Given the description of an element on the screen output the (x, y) to click on. 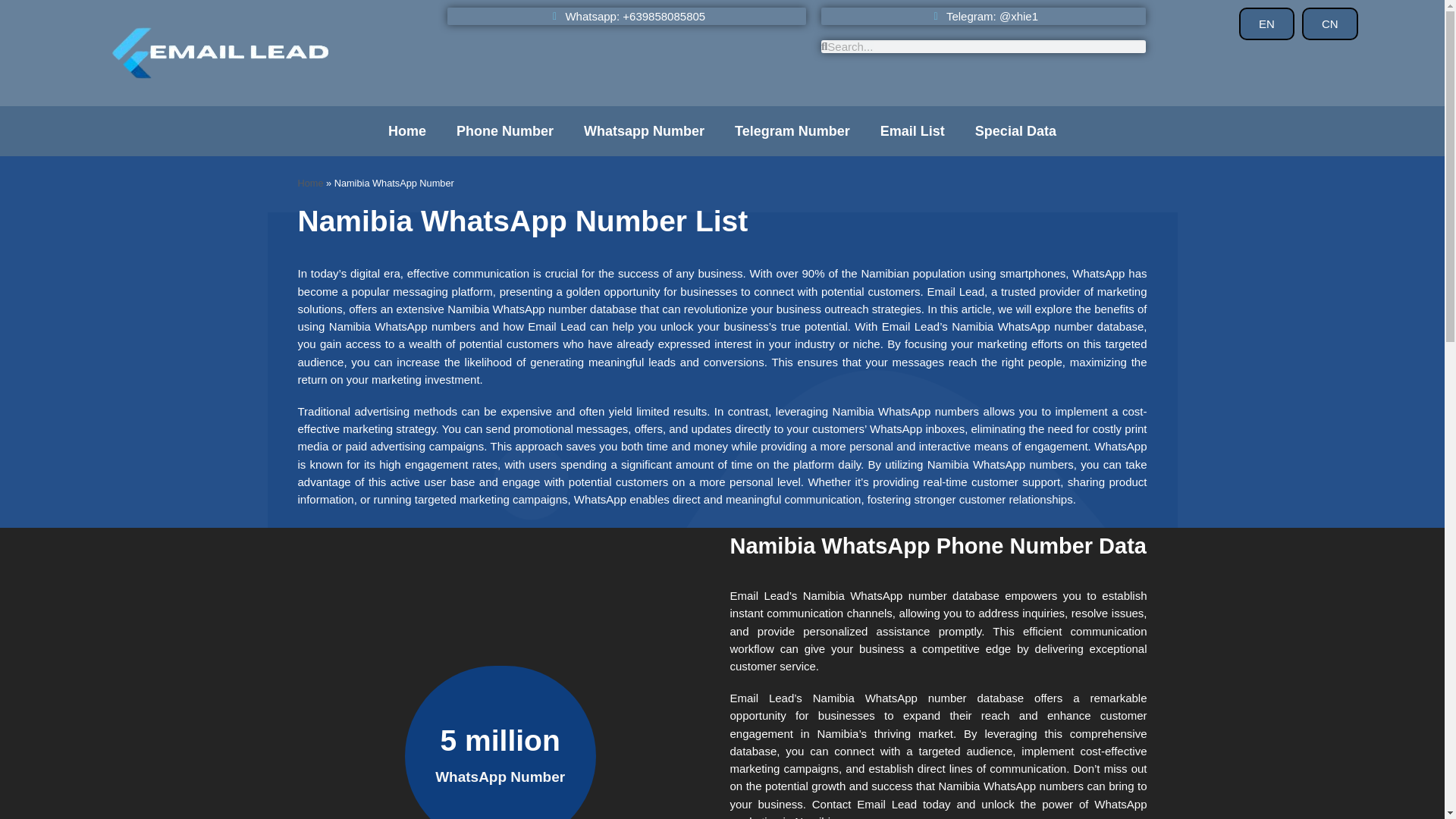
Home (310, 183)
EN (1266, 23)
Telegram Number (791, 130)
CN (1329, 23)
Special Data (1015, 130)
Phone Number (505, 130)
Whatsapp Number (644, 130)
Email List (911, 130)
Home (406, 130)
